Given the description of an element on the screen output the (x, y) to click on. 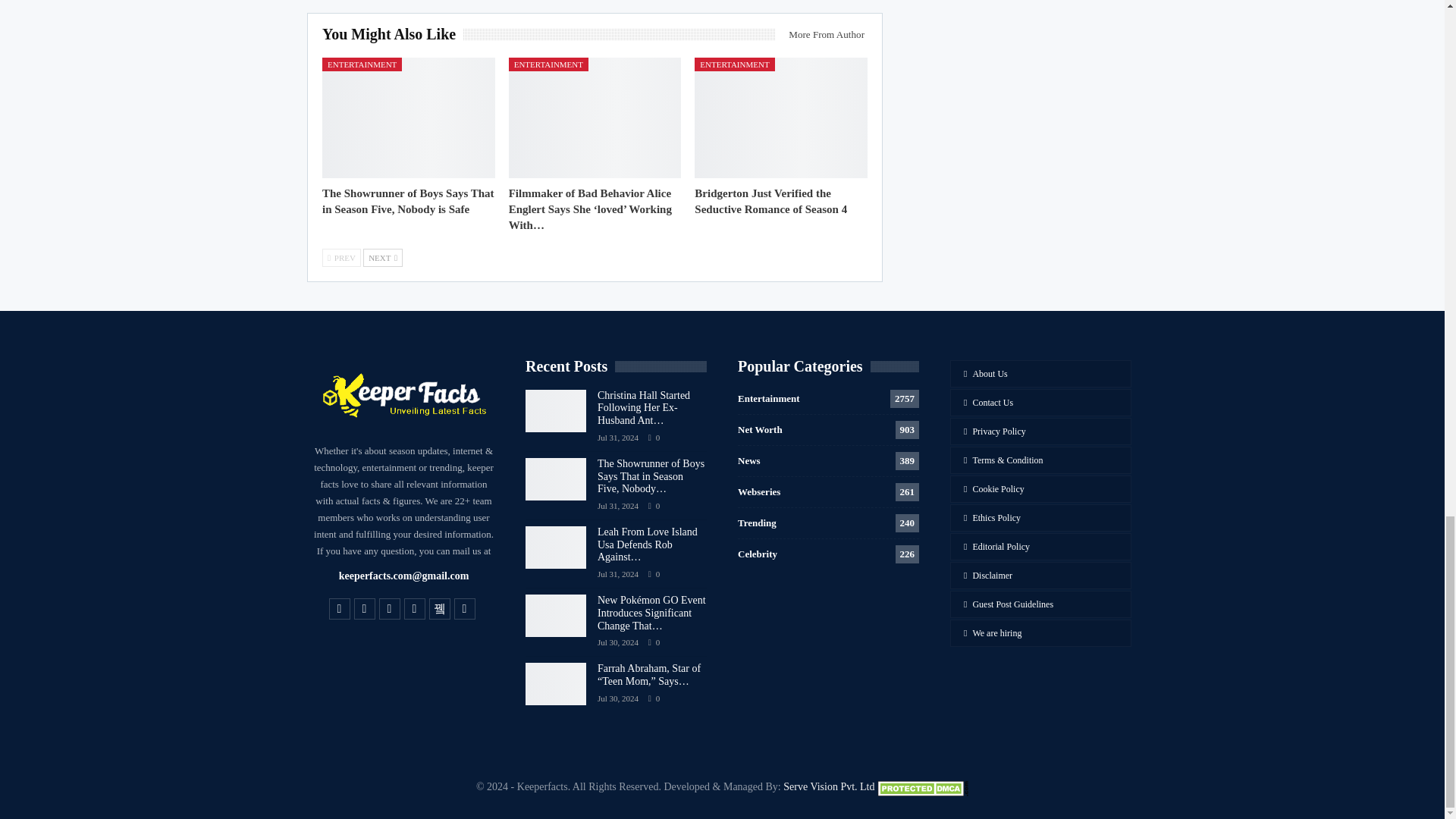
Previous (341, 257)
Next (382, 257)
Bridgerton Just Verified the Seductive Romance of Season 4 (780, 117)
Bridgerton Just Verified the Seductive Romance of Season 4 (770, 201)
